Given the description of an element on the screen output the (x, y) to click on. 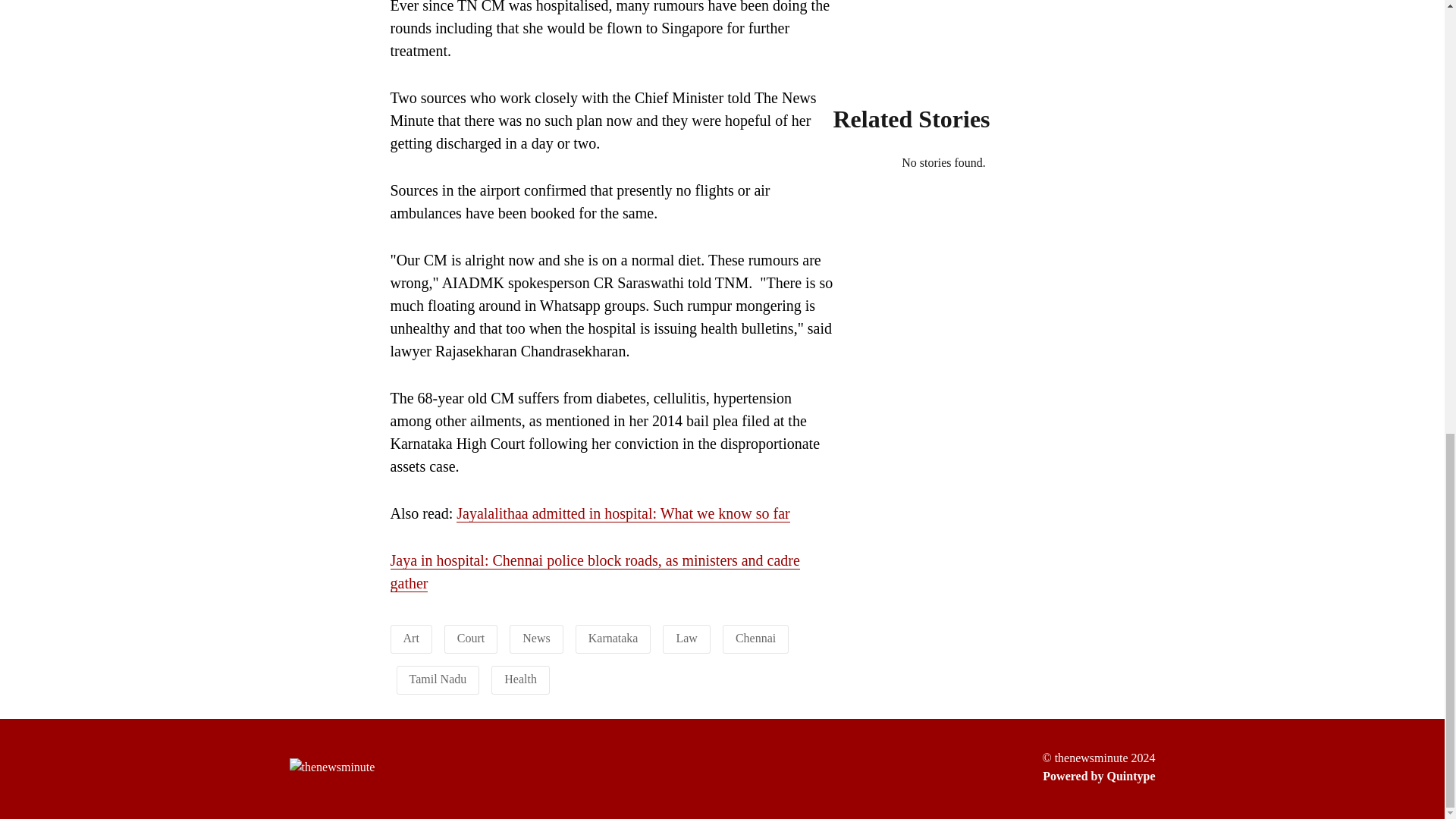
Chennai (755, 636)
Law (686, 636)
Court (470, 636)
News (536, 636)
Tamil Nadu (438, 677)
Karnataka (613, 636)
Health (520, 677)
Jayalalithaa admitted in hospital: What we know so far (623, 513)
Powered by Quintype (1098, 776)
Art (411, 636)
